Given the description of an element on the screen output the (x, y) to click on. 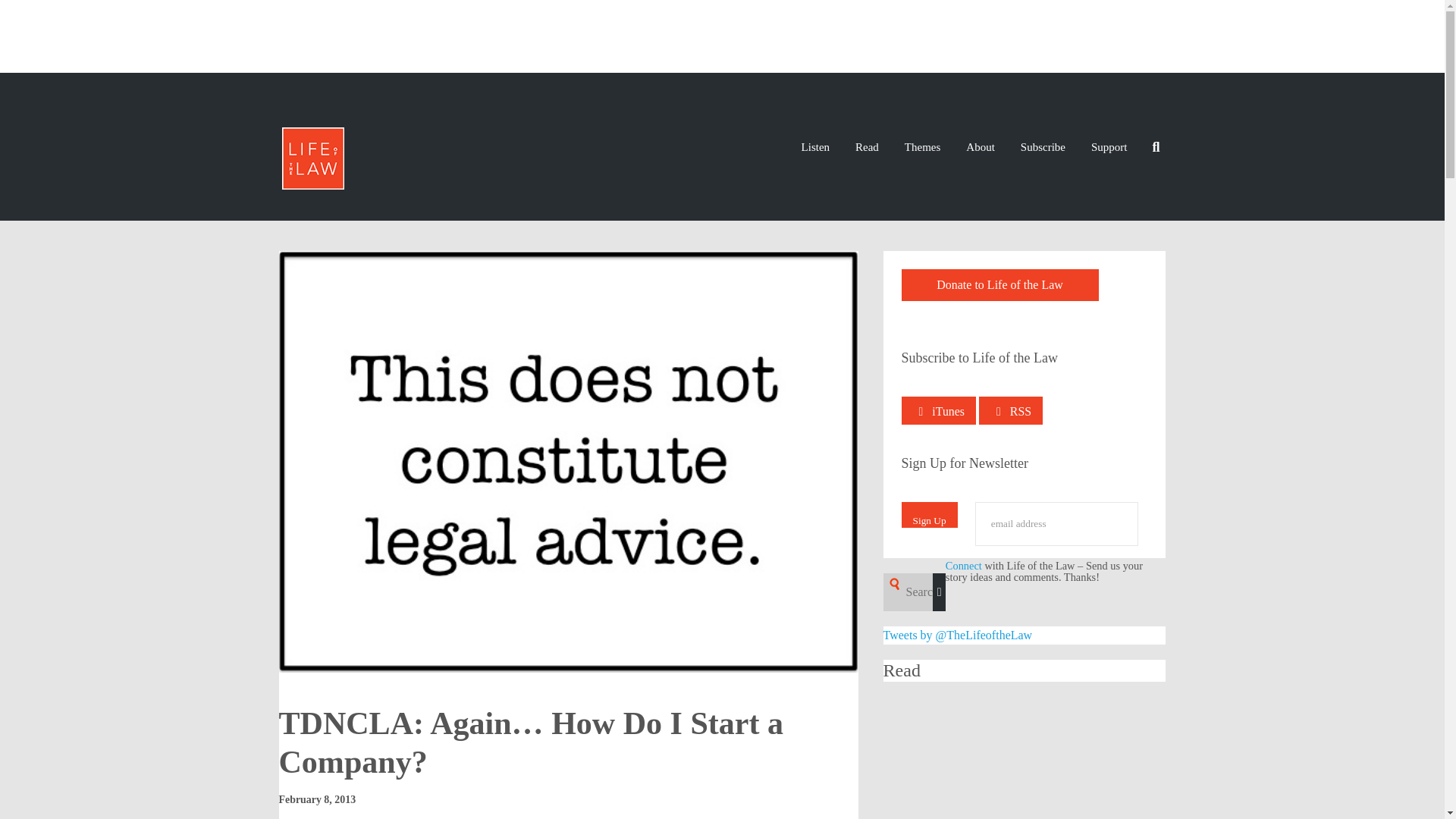
Sign Up (929, 514)
